Given the description of an element on the screen output the (x, y) to click on. 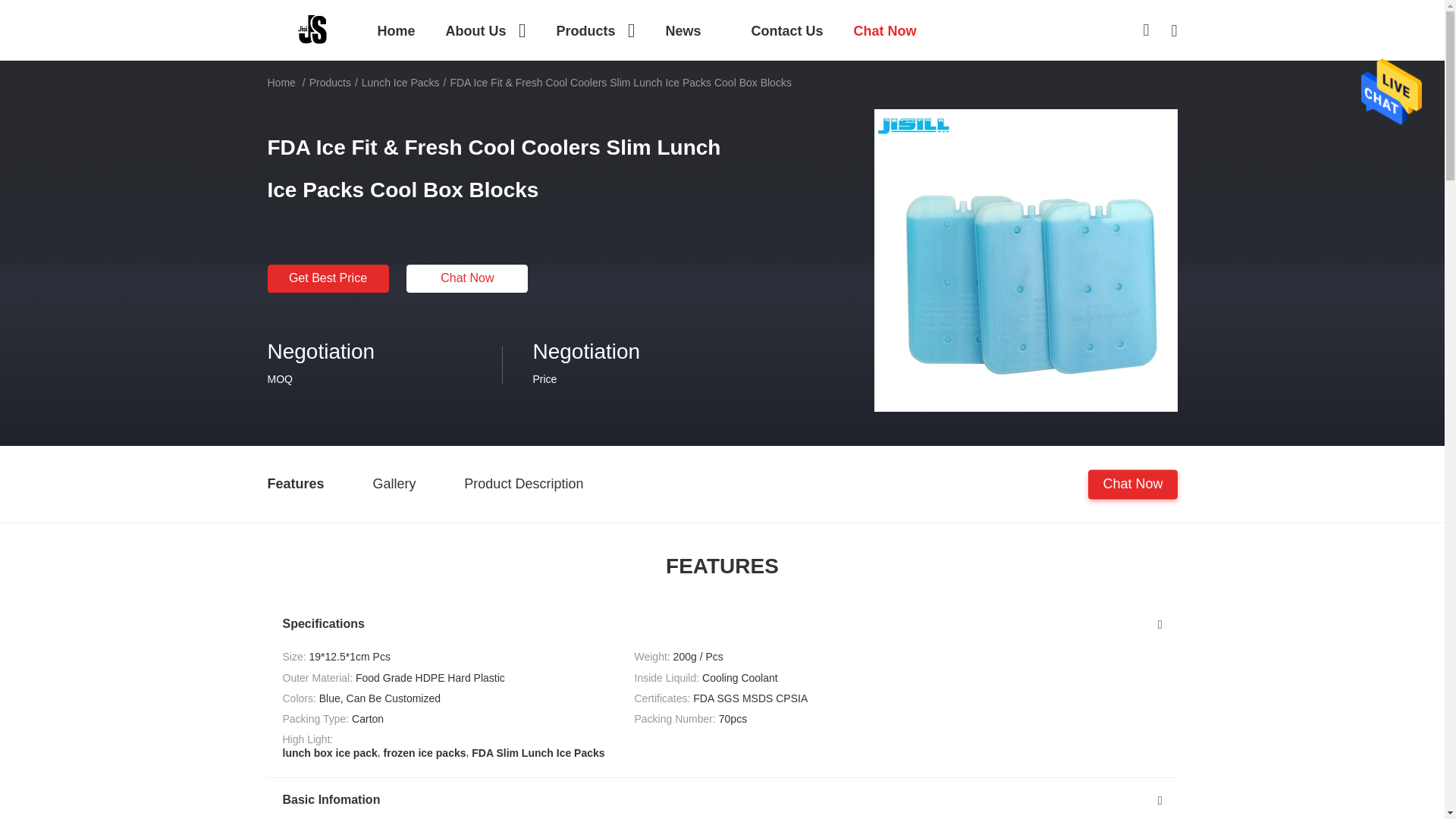
Products (595, 30)
About Us (485, 30)
Changzhou jisi cold chain technology Co.,ltd (312, 28)
About Us (485, 30)
Products (595, 30)
